Given the description of an element on the screen output the (x, y) to click on. 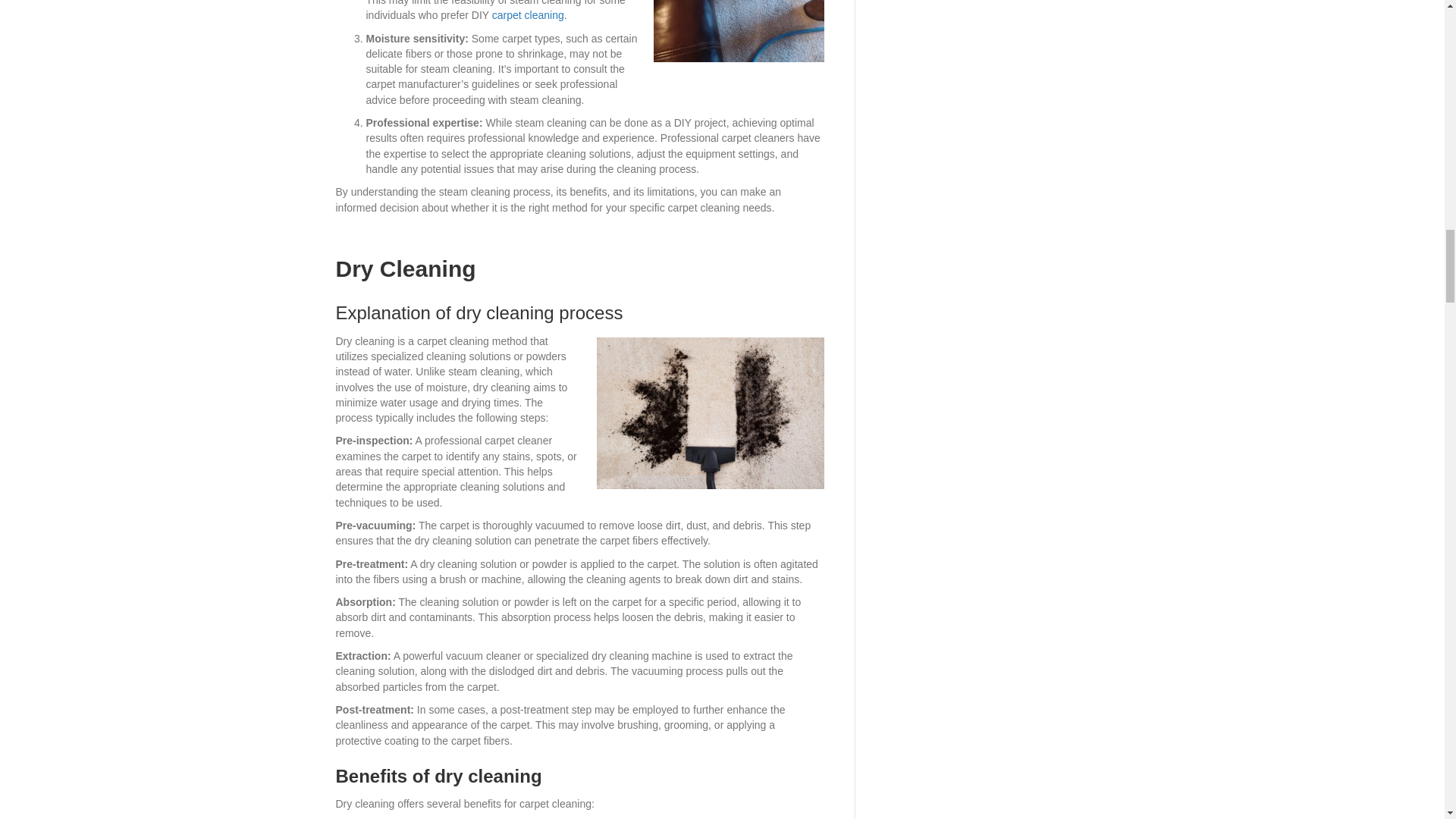
carpet cleaning (528, 15)
